Given the description of an element on the screen output the (x, y) to click on. 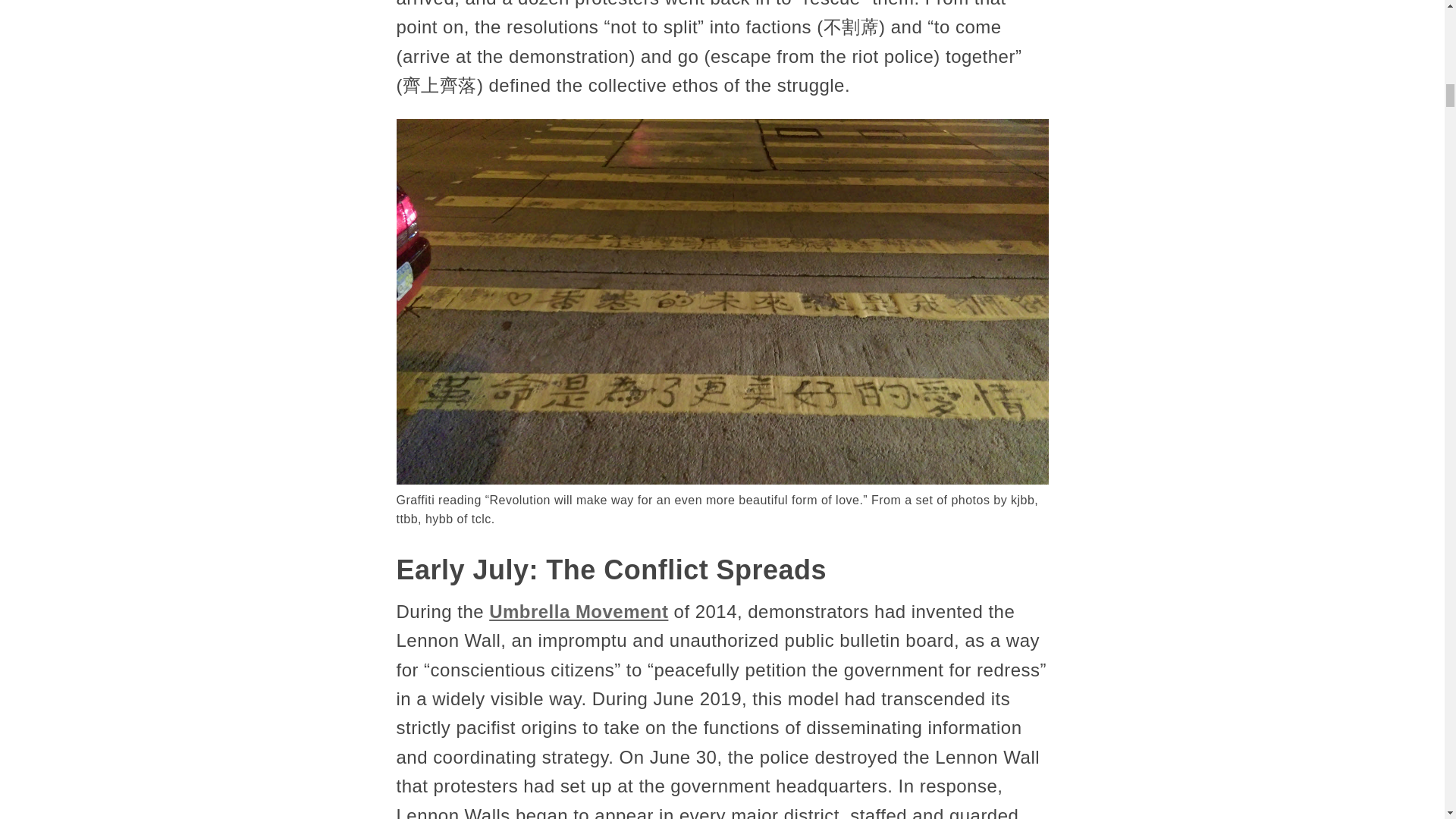
Umbrella Movement (578, 611)
